Given the description of an element on the screen output the (x, y) to click on. 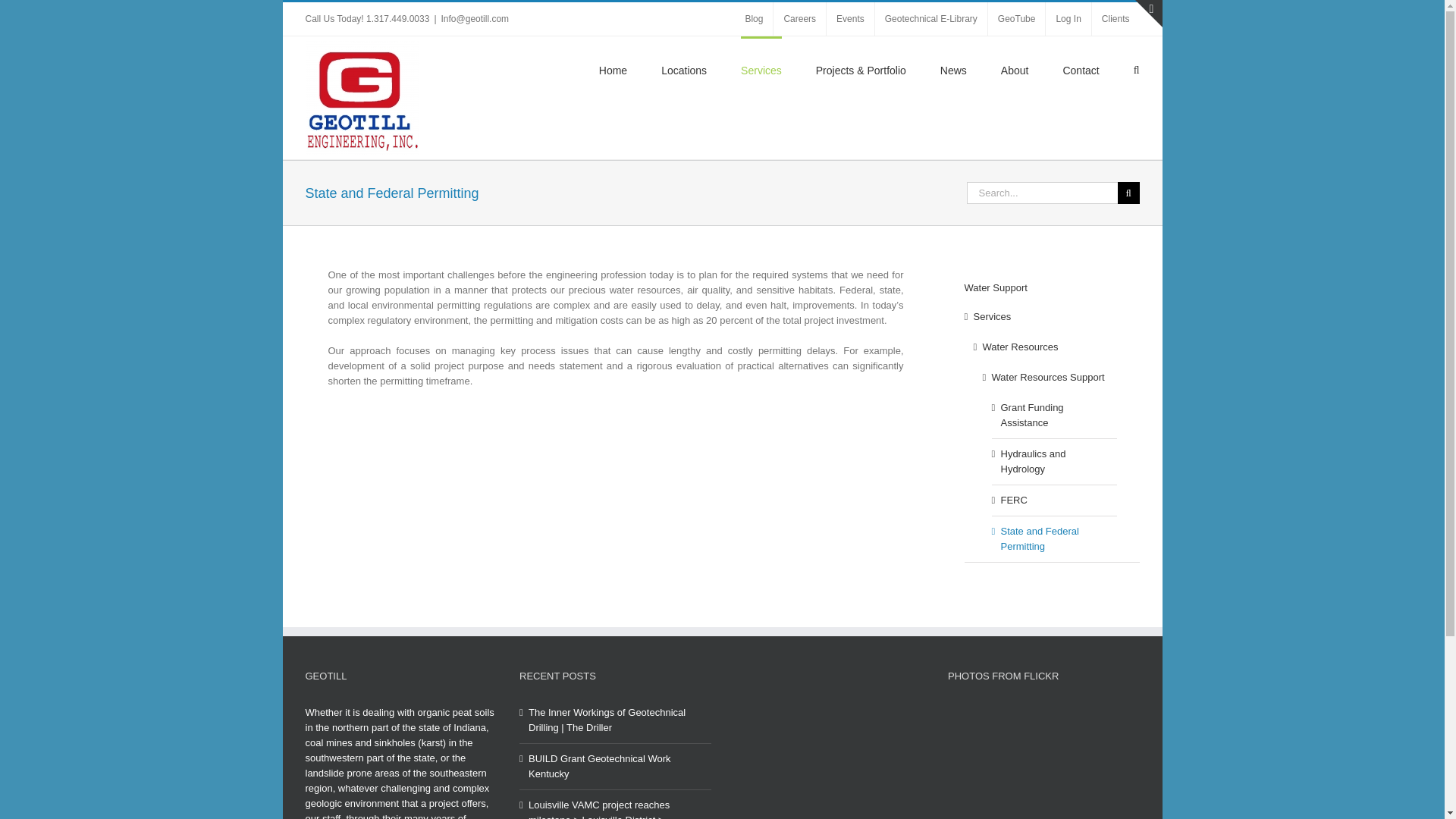
Clients (1116, 19)
GeoTube (1016, 19)
Events (851, 19)
Log In (1067, 19)
Geotechnical E-Library (931, 19)
Careers (799, 19)
Blog (754, 19)
